Given the description of an element on the screen output the (x, y) to click on. 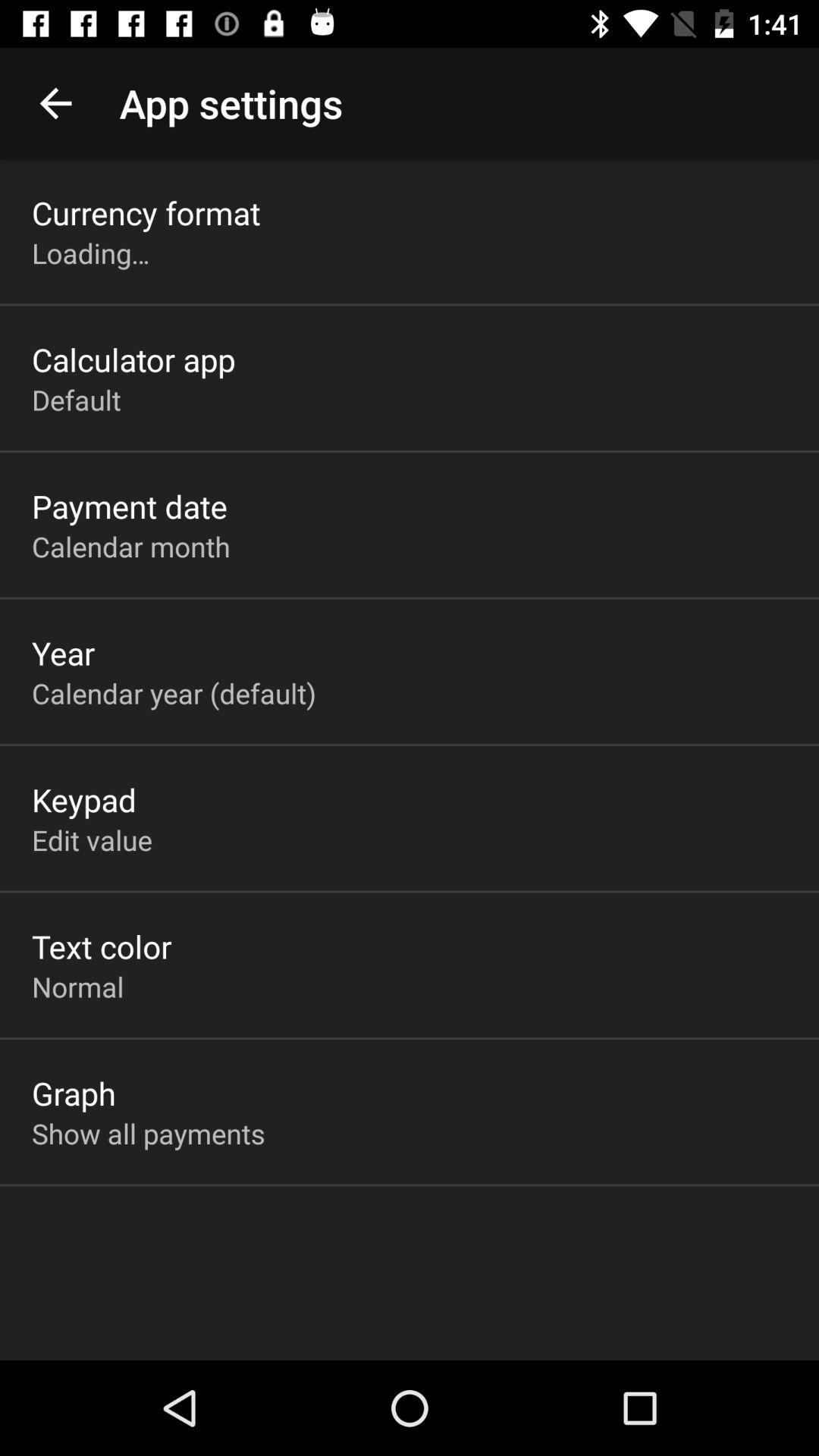
click the icon to the left of app settings icon (55, 103)
